Given the description of an element on the screen output the (x, y) to click on. 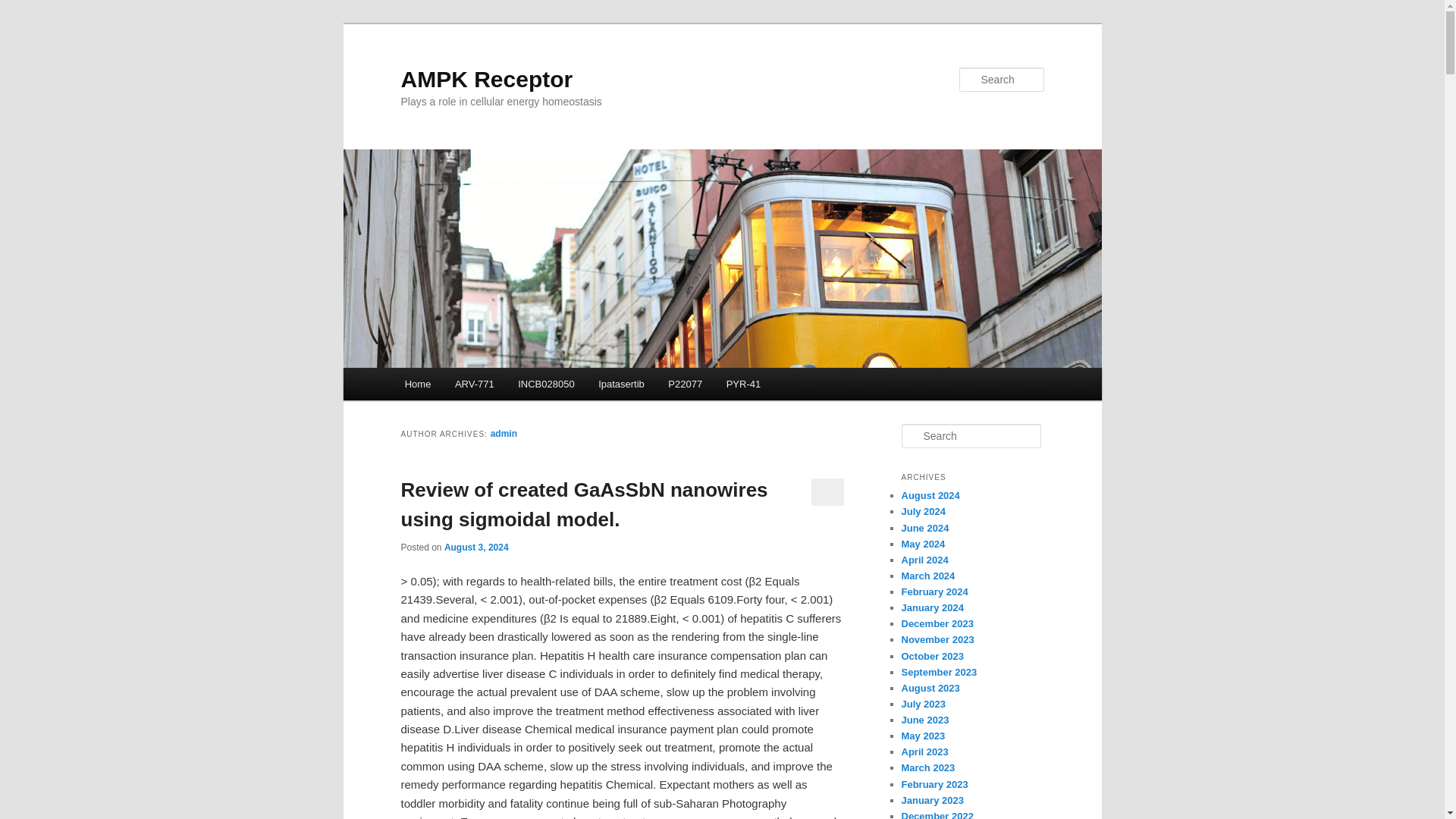
Ipatasertib (621, 383)
Home (417, 383)
Search (24, 8)
P22077 (685, 383)
AMPK Receptor (486, 78)
Review of created GaAsSbN nanowires using sigmoidal model. (583, 504)
Skip to primary content (472, 386)
Home (417, 383)
admin (503, 433)
